Given the description of an element on the screen output the (x, y) to click on. 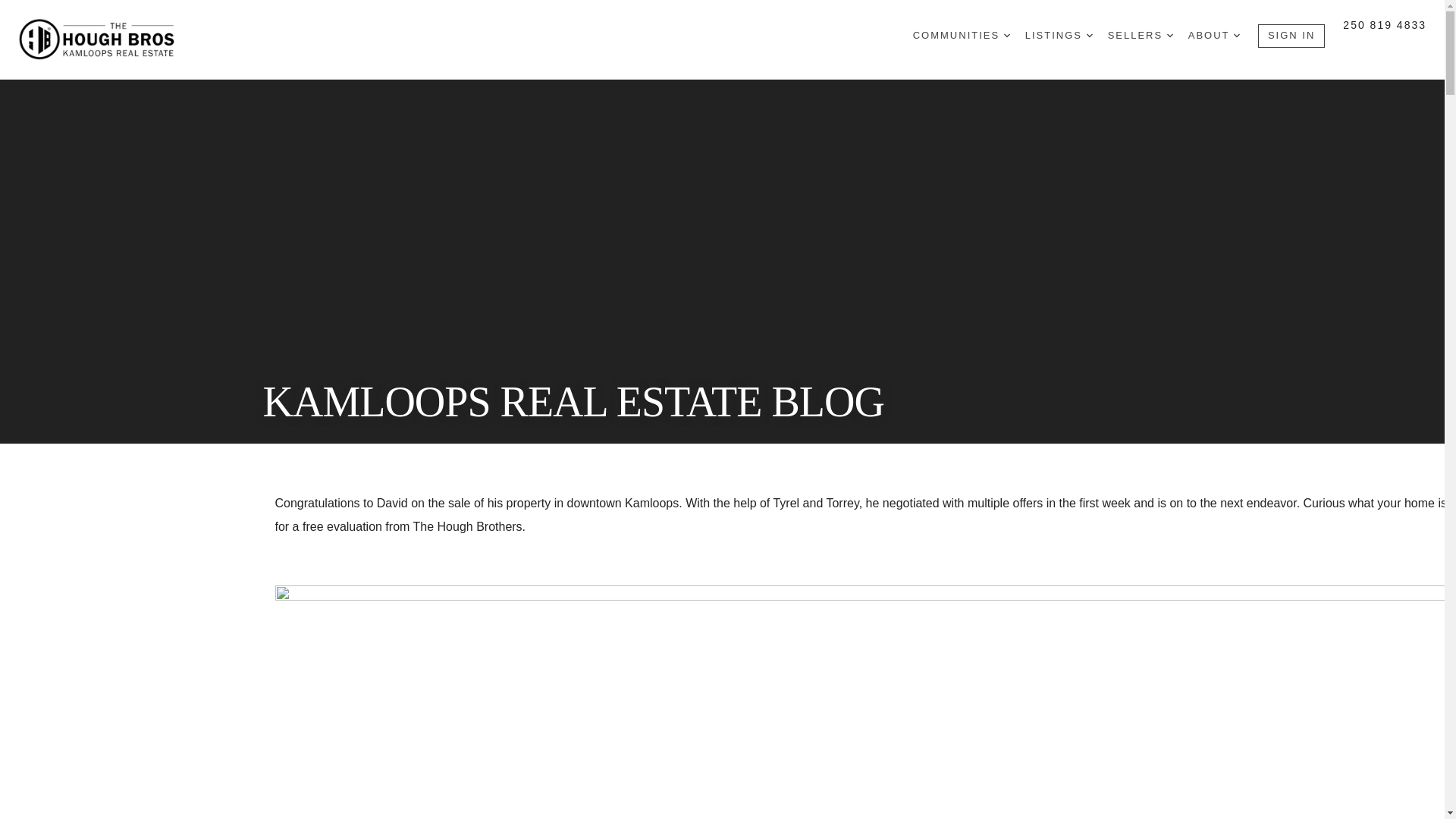
COMMUNITIES DROPDOWN ARROW (961, 35)
DROPDOWN ARROW (1236, 35)
LISTINGS DROPDOWN ARROW (1059, 35)
DROPDOWN ARROW (1007, 35)
DROPDOWN ARROW (1089, 35)
ABOUT DROPDOWN ARROW (1214, 35)
SELLERS DROPDOWN ARROW (1140, 35)
DROPDOWN ARROW (1170, 35)
